Given the description of an element on the screen output the (x, y) to click on. 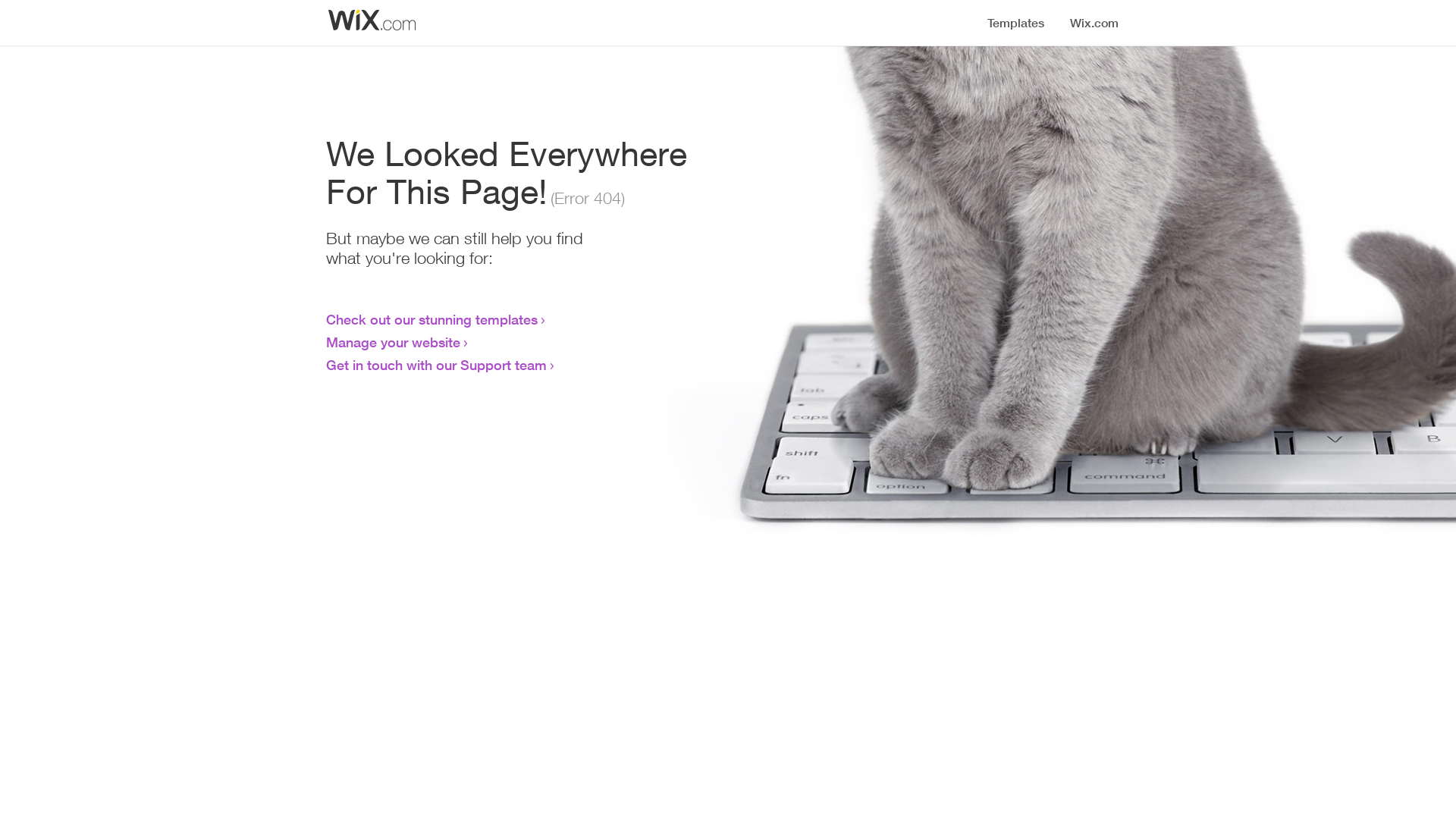
Get in touch with our Support team Element type: text (436, 364)
Check out our stunning templates Element type: text (431, 318)
Manage your website Element type: text (393, 341)
